Given the description of an element on the screen output the (x, y) to click on. 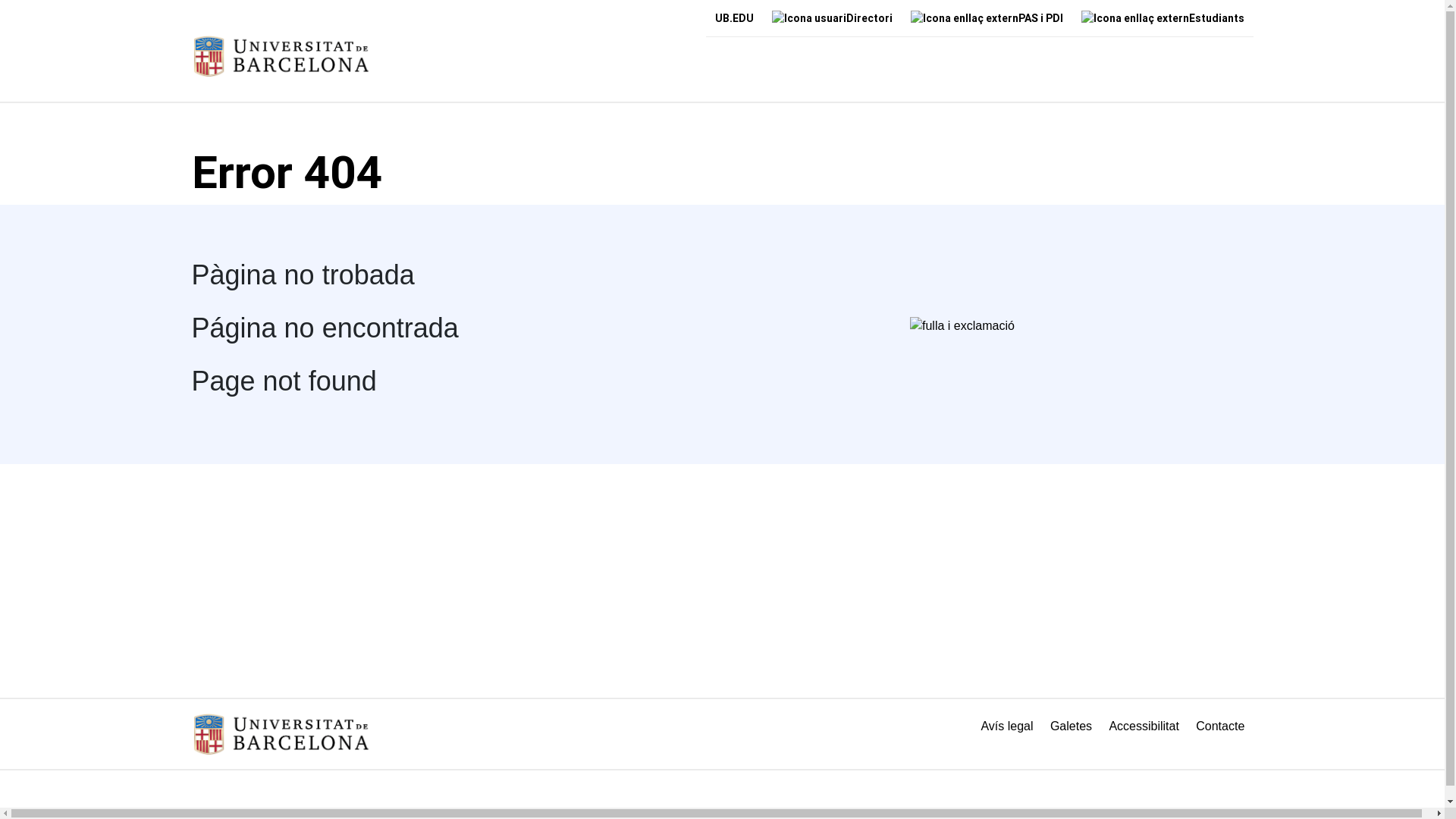
Accessibilitat Element type: text (1143, 725)
Ves a Universitat de Barcelona Element type: hover (280, 55)
UB.EDU Element type: text (733, 18)
Contacte Element type: text (1219, 725)
Directori Element type: text (831, 18)
Estudiants Element type: text (1162, 18)
Galetes Element type: text (1071, 725)
PAS i PDI Element type: text (985, 18)
